Given the description of an element on the screen output the (x, y) to click on. 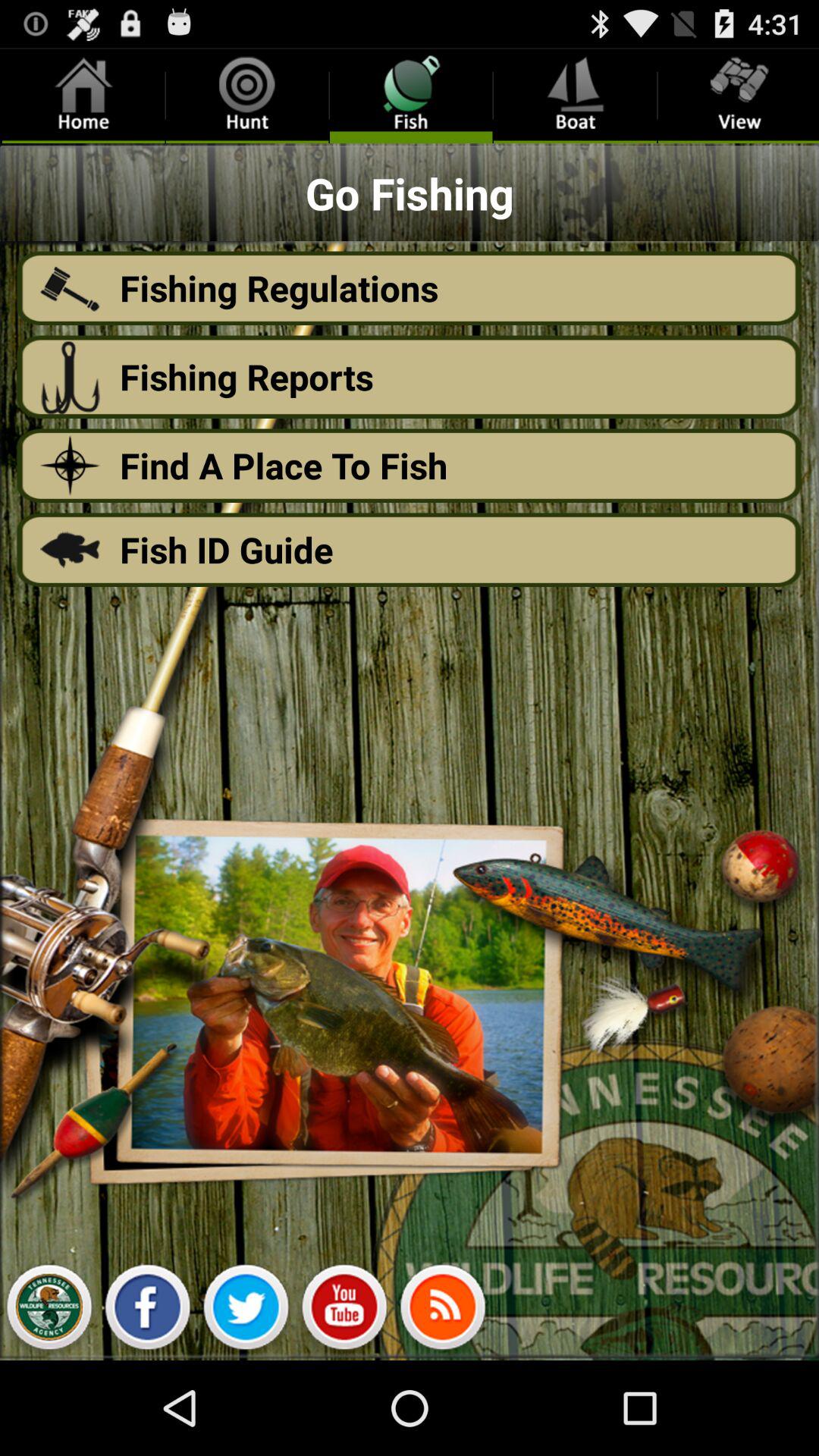
game login (49, 1311)
